Given the description of an element on the screen output the (x, y) to click on. 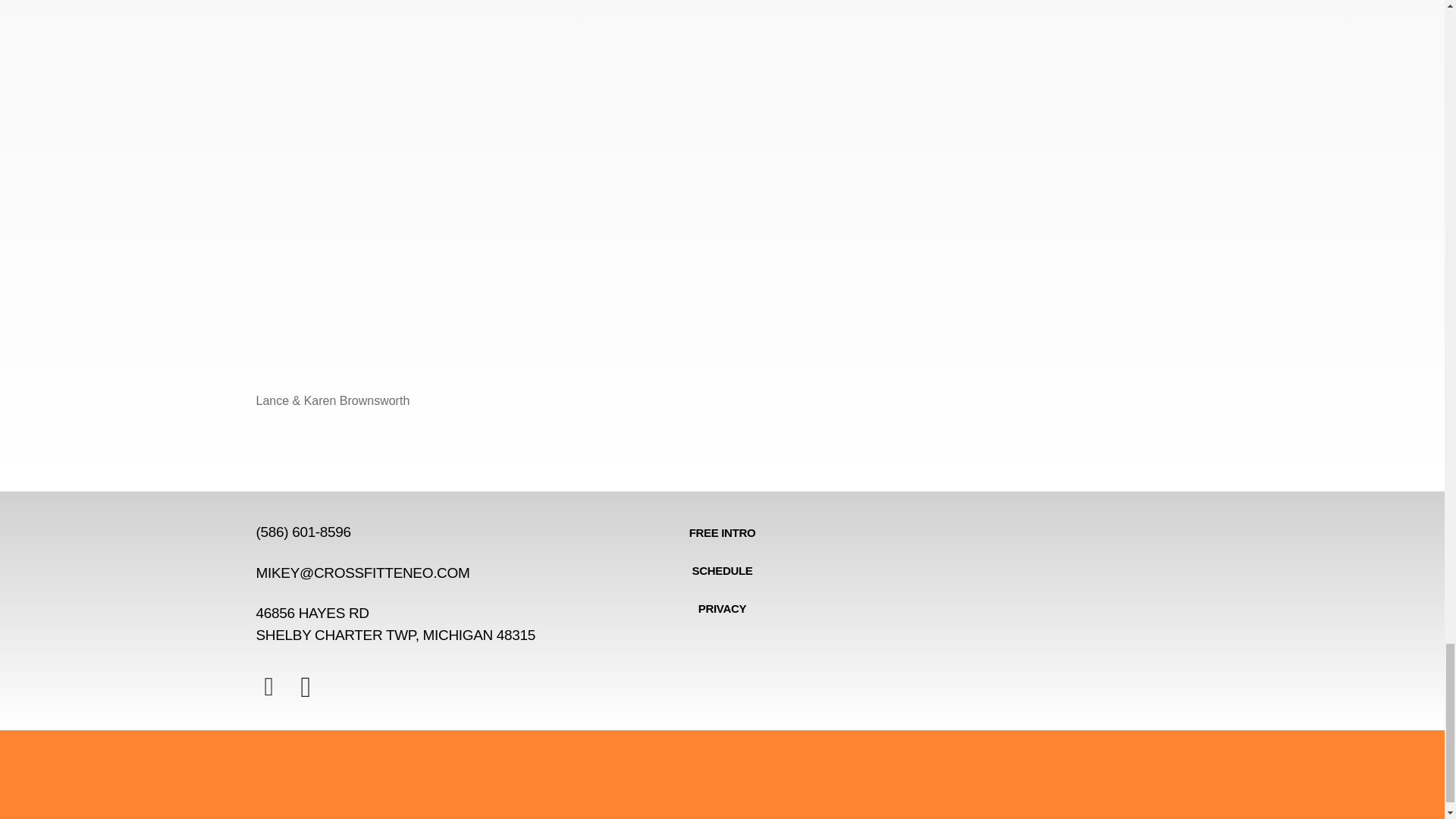
PRIVACY (722, 608)
SCHEDULE (406, 624)
FREE INTRO (722, 570)
A KILO WEBSITE (722, 532)
